Given the description of an element on the screen output the (x, y) to click on. 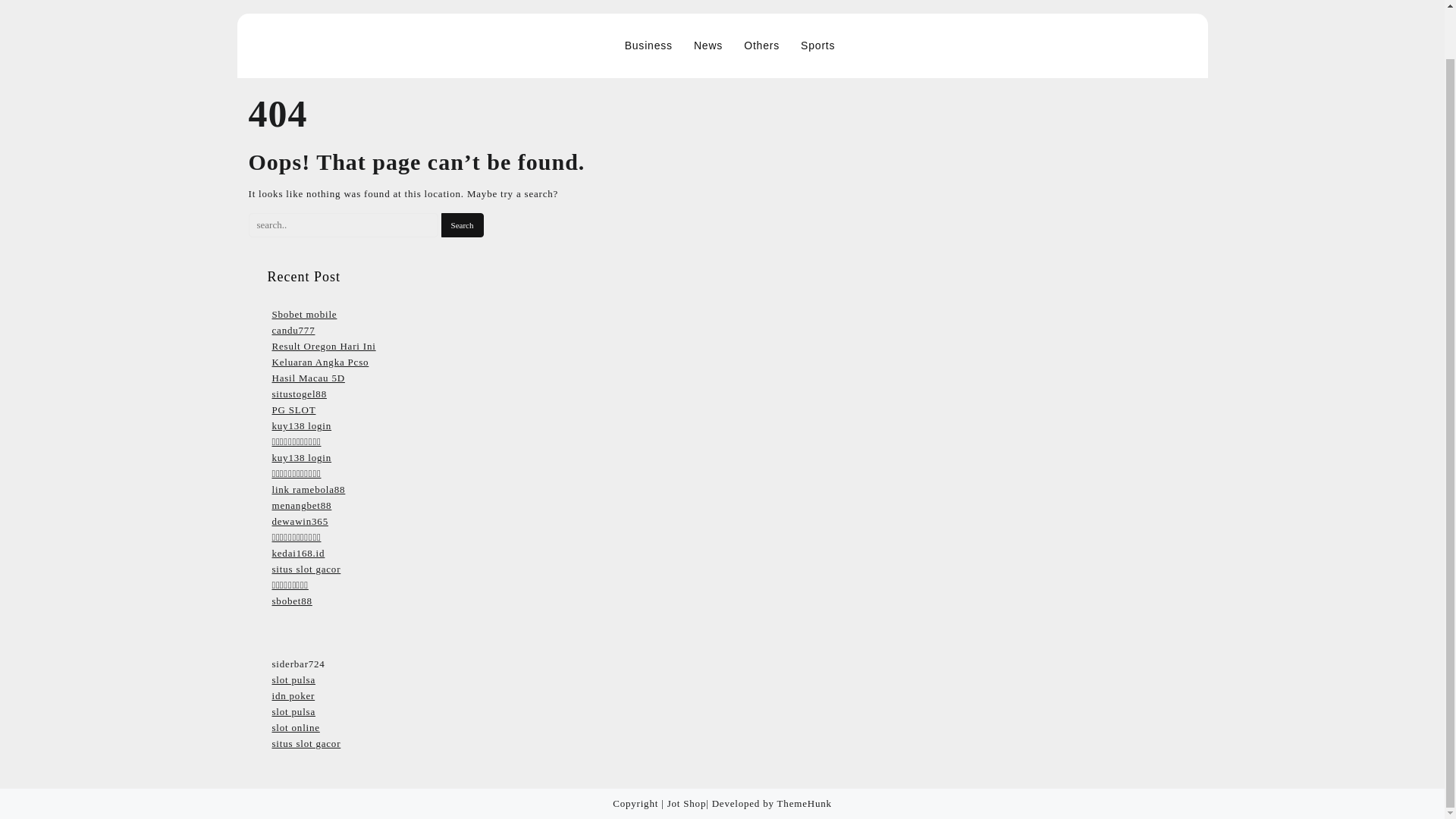
PG SLOT (292, 409)
slot pulsa (292, 711)
situs slot gacor (305, 743)
candu777 (292, 329)
Business (648, 45)
link ramebola88 (307, 489)
Search (462, 224)
Search (462, 224)
situs slot gacor (305, 568)
Result Oregon Hari Ini (322, 346)
Keluaran Angka Pcso (319, 361)
kuy138 login (300, 425)
dewawin365 (298, 521)
Hasil Macau 5D (306, 378)
kuy138 login (300, 457)
